Given the description of an element on the screen output the (x, y) to click on. 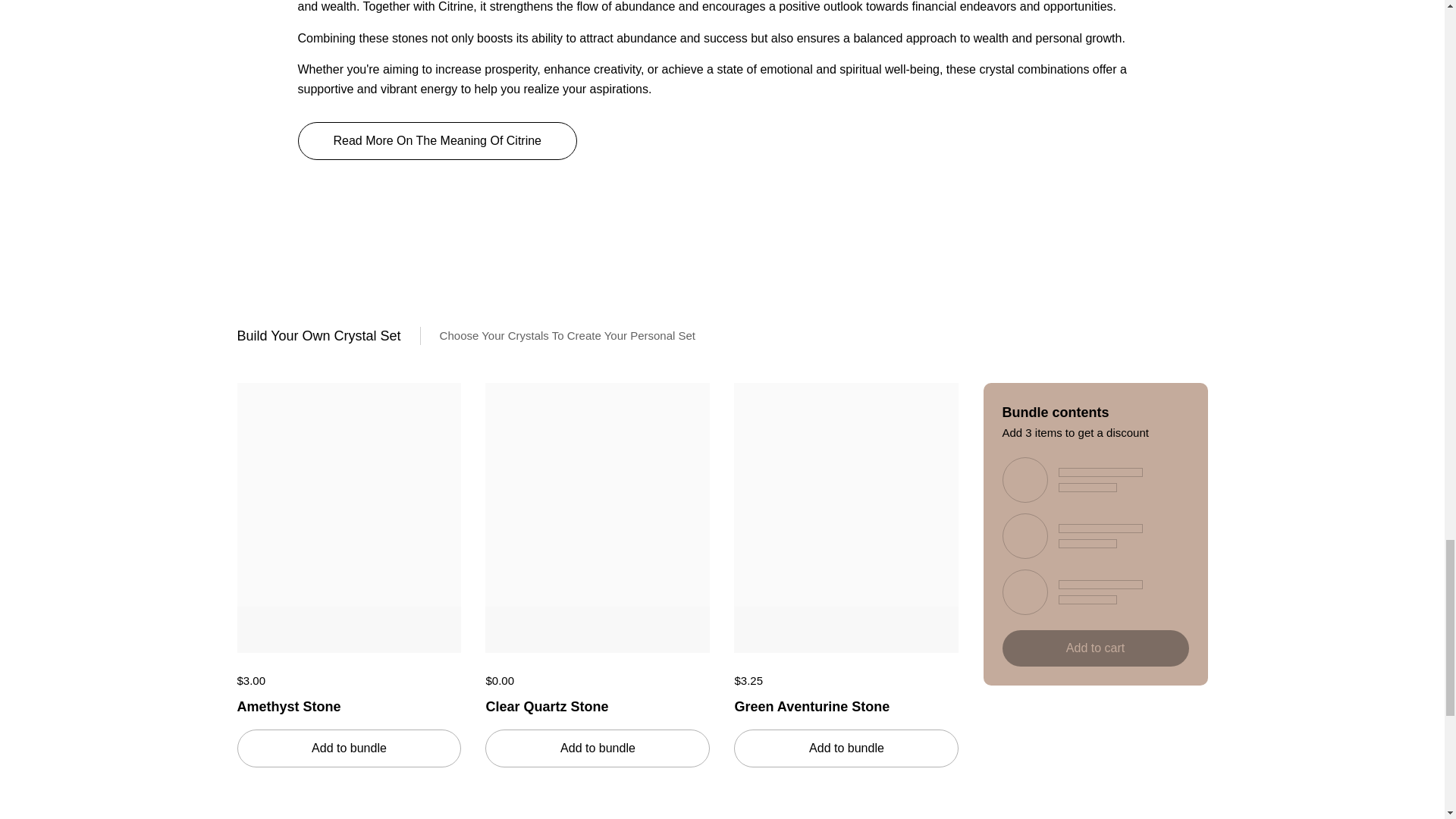
Clear Quartz Stone (597, 703)
Amethyst Stone (348, 703)
Green Aventurine Stone (845, 703)
